Given the description of an element on the screen output the (x, y) to click on. 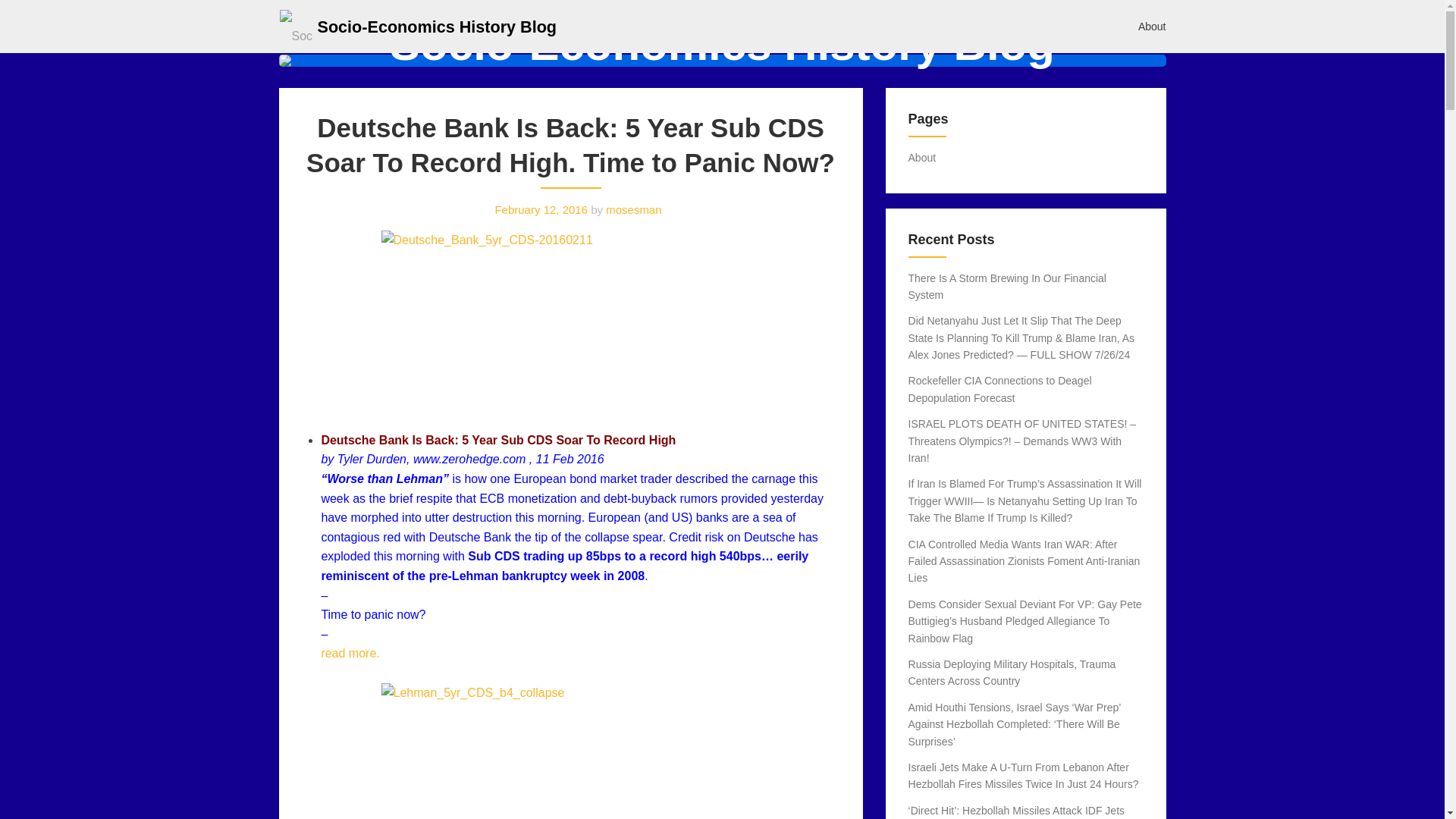
About (922, 157)
Socio-Economics History Blog (436, 26)
About (1151, 26)
read more. (349, 653)
February 12, 2016 (541, 209)
There Is A Storm Brewing In Our Financial System (1007, 286)
Rockefeller CIA Connections to Deagel Depopulation Forecast (1000, 388)
Deutsche Bank Is Back: 5 Year Sub CDS Soar To Record High (497, 440)
